Given the description of an element on the screen output the (x, y) to click on. 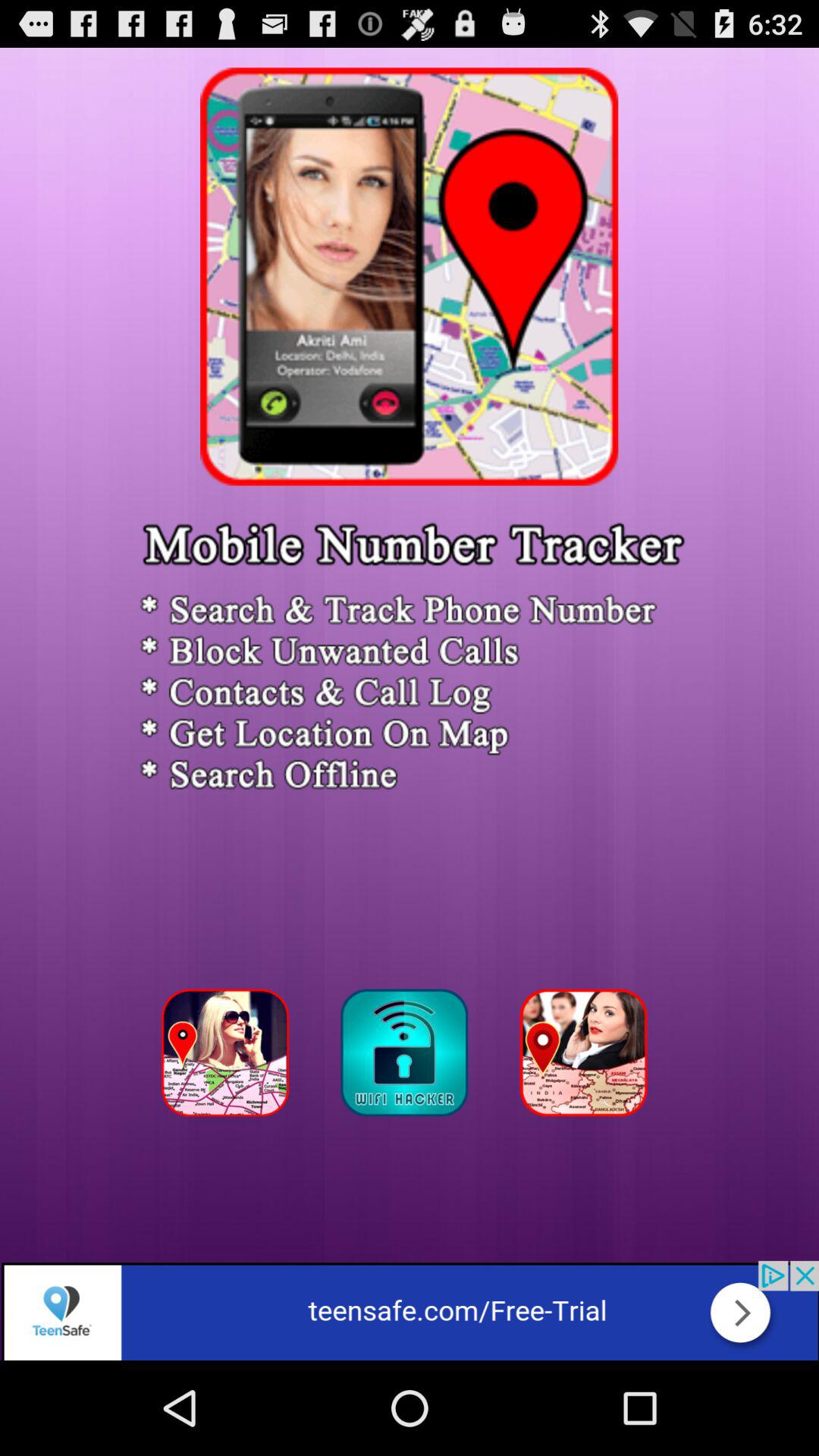
click for gps tracker (408, 1057)
